Given the description of an element on the screen output the (x, y) to click on. 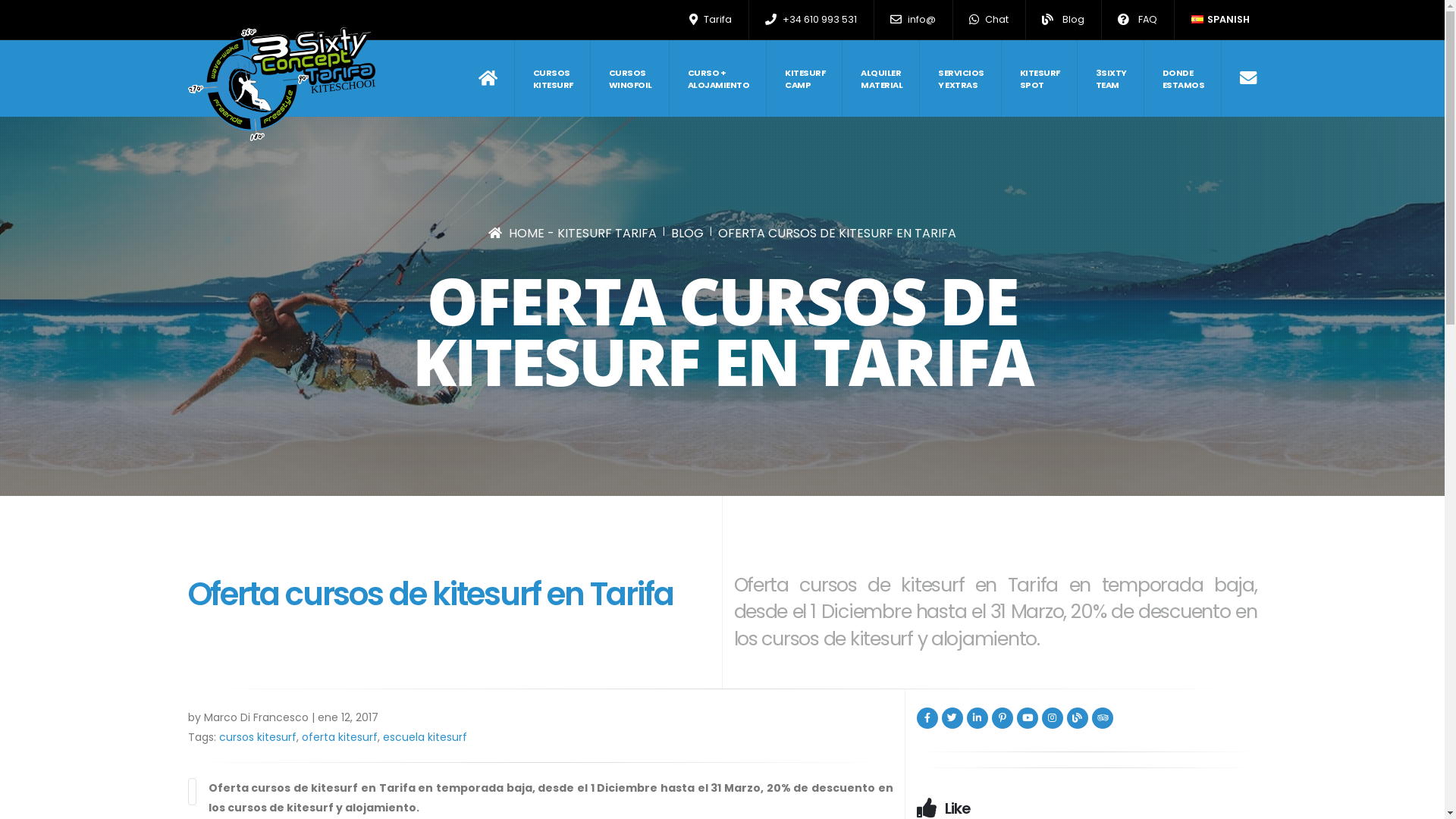
Pinterest Element type: hover (1002, 717)
info@ Element type: text (912, 19)
KITESURF CAMP Element type: text (805, 78)
Home - Kitesurf Tarifa Element type: hover (496, 78)
DONDE ESTAMOS Element type: text (1183, 78)
SERVICIOS Y EXTRAS Element type: text (961, 78)
escuela kitesurf Element type: text (424, 736)
CURSOS WINGFOIL Element type: text (629, 78)
Oferta cursos de kitesurf en Tarifa Element type: hover (192, 791)
Linkedin Element type: hover (976, 717)
oferta kitesurf Element type: text (339, 736)
Tripadvisor Element type: hover (1102, 717)
FAQ Element type: text (1137, 19)
OFERTA CURSOS DE KITESURF EN TARIFA Element type: text (837, 232)
CURSOS KITESURF Element type: text (552, 78)
3SIXTY TEAM Element type: text (1110, 78)
Home - 3Sixty Escuela Kitesurf Tarifa Element type: hover (281, 83)
KITESURF SPOT Element type: text (1039, 78)
ALQUILER MATERIAL Element type: text (881, 78)
Tarifa Element type: text (710, 19)
Twitter Element type: hover (952, 717)
Youtube Element type: hover (1026, 717)
Facebook Element type: hover (926, 717)
cursos kitesurf Element type: text (256, 736)
Blog Element type: hover (1076, 717)
Chat Element type: text (988, 19)
BLOG Element type: text (687, 232)
+34 610 993 531 Element type: text (811, 19)
HOME - KITESURF TARIFA Element type: text (572, 232)
SPANISH Element type: text (1219, 19)
Blog Element type: text (1062, 19)
CURSO + ALOJAMIENTO Element type: text (718, 78)
Instagram Element type: hover (1052, 717)
